Given the description of an element on the screen output the (x, y) to click on. 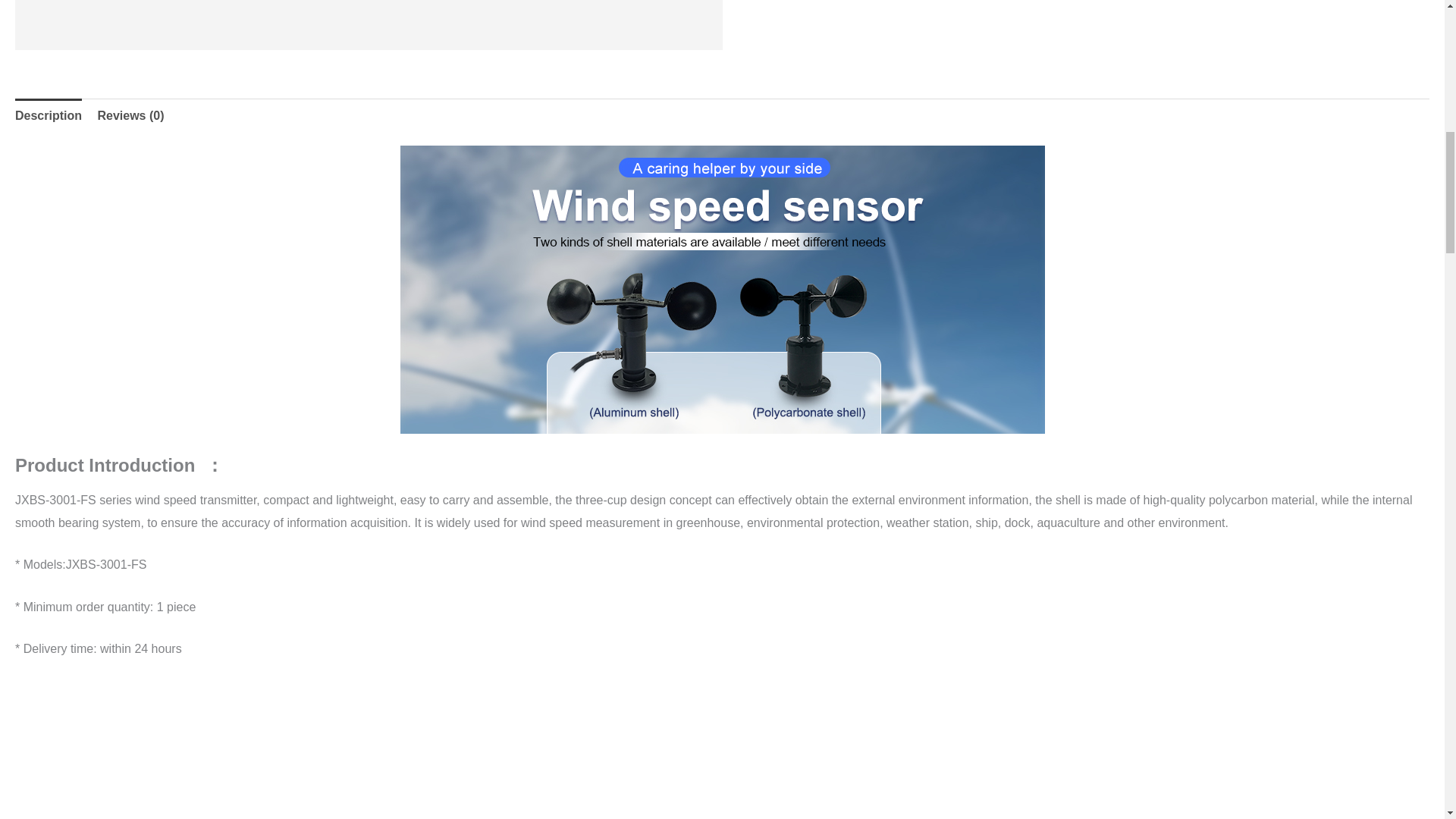
Wind direction instrument (368, 25)
Description (47, 115)
